Given the description of an element on the screen output the (x, y) to click on. 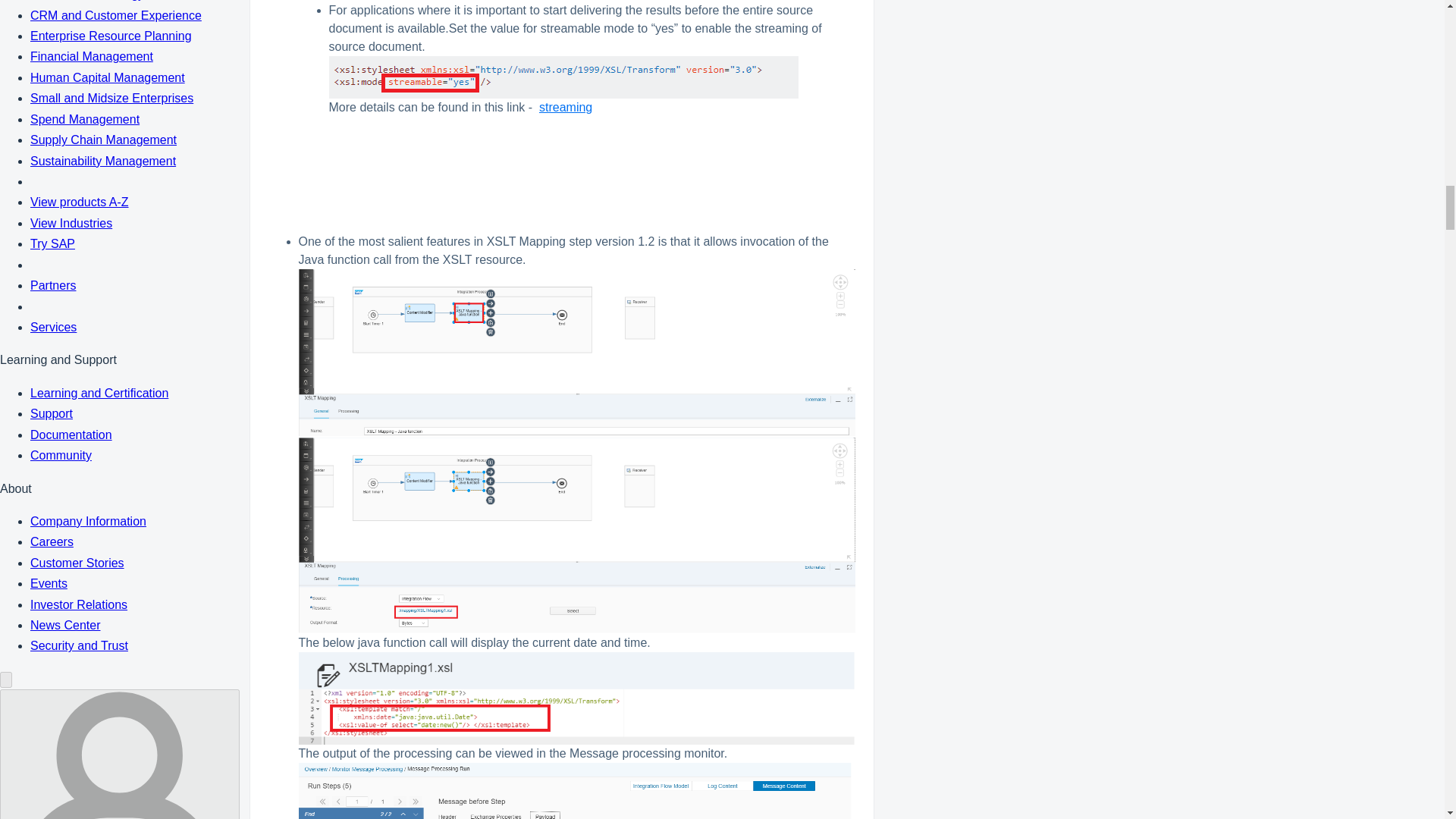
streaming (565, 106)
